Given the description of an element on the screen output the (x, y) to click on. 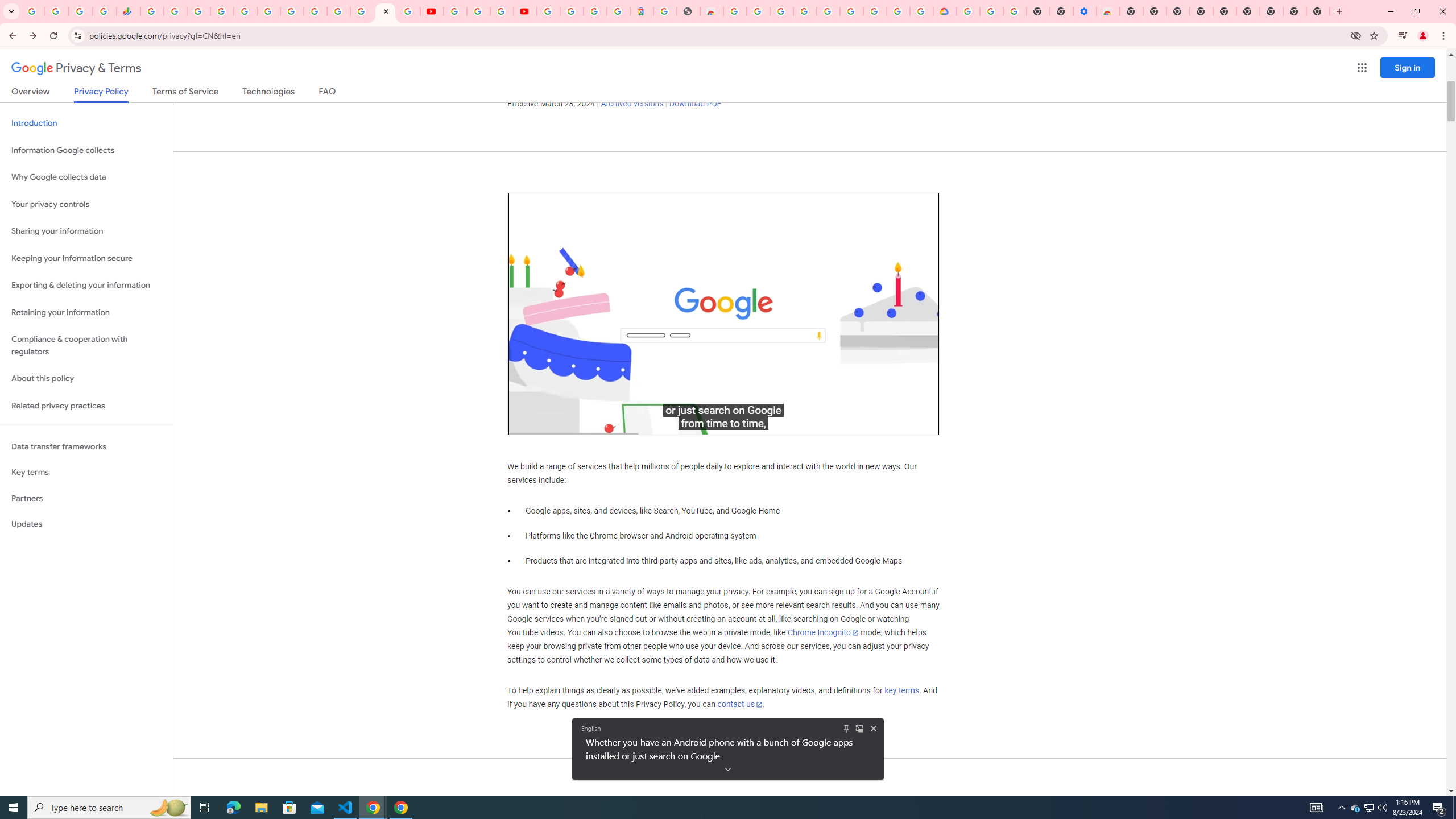
Create your Google Account (757, 11)
Sign in - Google Accounts (968, 11)
Retaining your information (86, 312)
key terms (900, 691)
Keeping your information secure (86, 258)
Why Google collects data (86, 176)
Key terms (86, 472)
Exporting & deleting your information (86, 284)
